Given the description of an element on the screen output the (x, y) to click on. 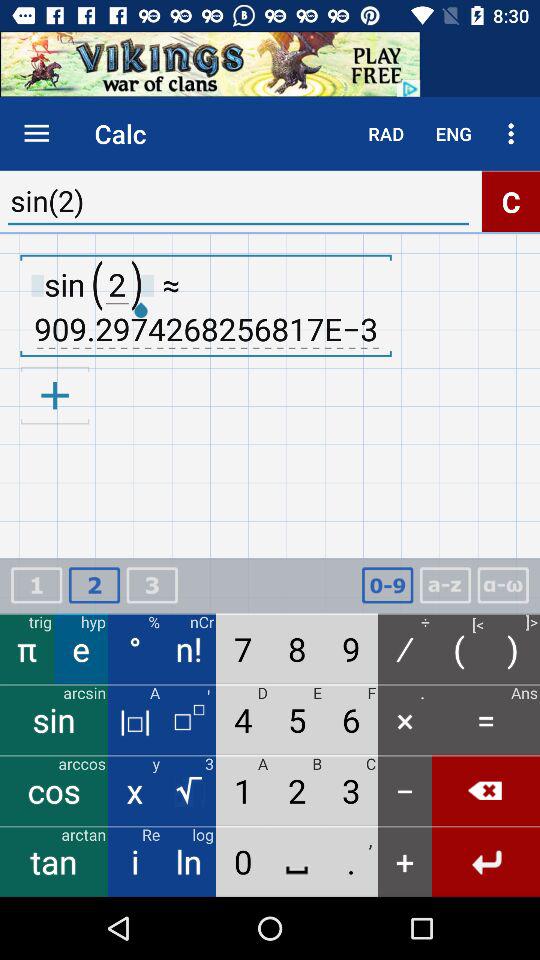
change keyboard (445, 585)
